Given the description of an element on the screen output the (x, y) to click on. 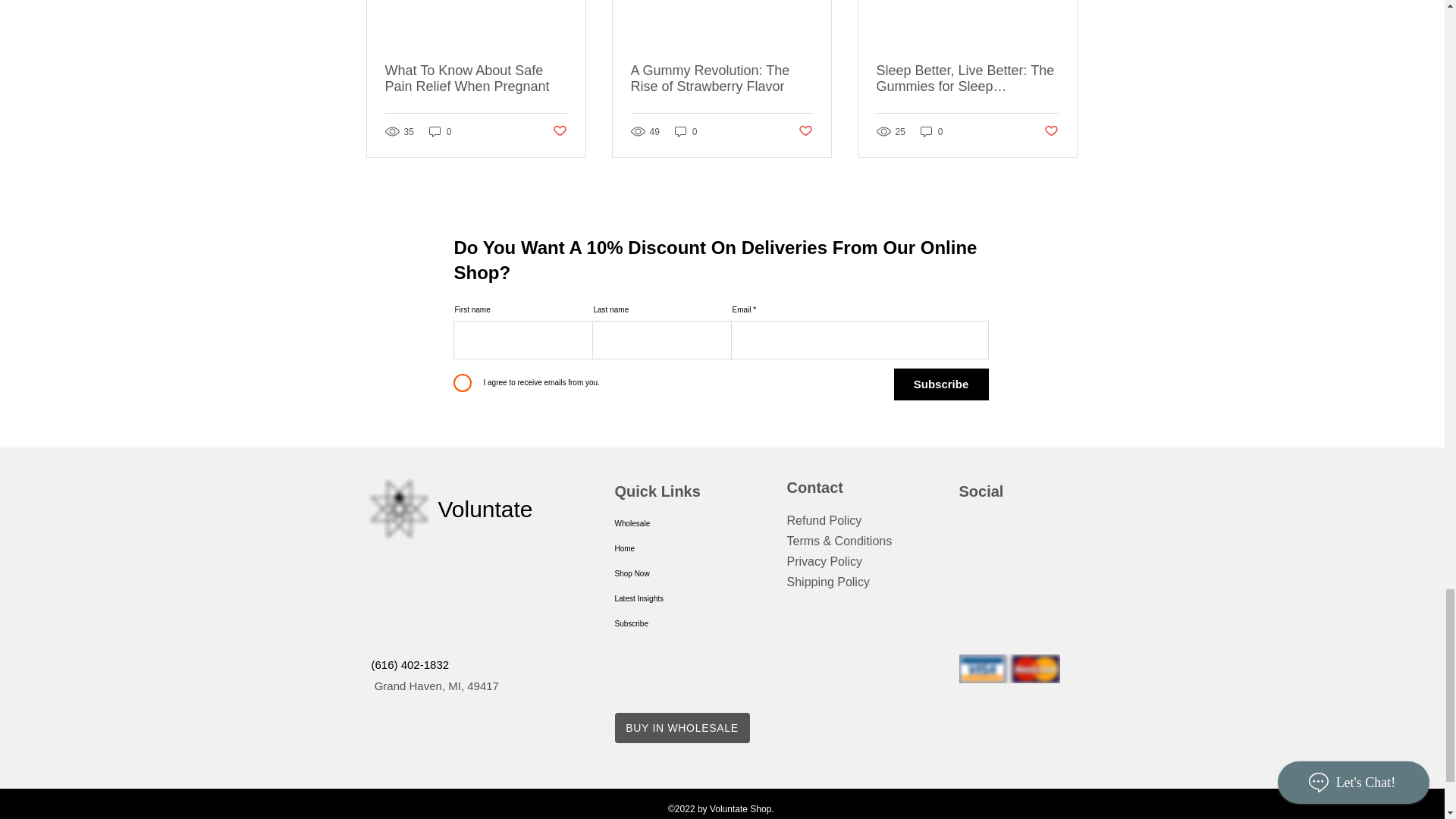
Subscribe (674, 623)
0 (685, 131)
Sleep Better, Live Better: The Gummies for Sleep Revolution (967, 79)
Latest Insights (674, 598)
A Gummy Revolution: The Rise of Strawberry Flavor (721, 79)
Wholesale (674, 523)
Post not marked as liked (804, 131)
Home (674, 548)
Subscribe (940, 384)
Post not marked as liked (1050, 131)
0 (931, 131)
Voluntate (485, 508)
0 (440, 131)
Shop Now (674, 573)
